Given the description of an element on the screen output the (x, y) to click on. 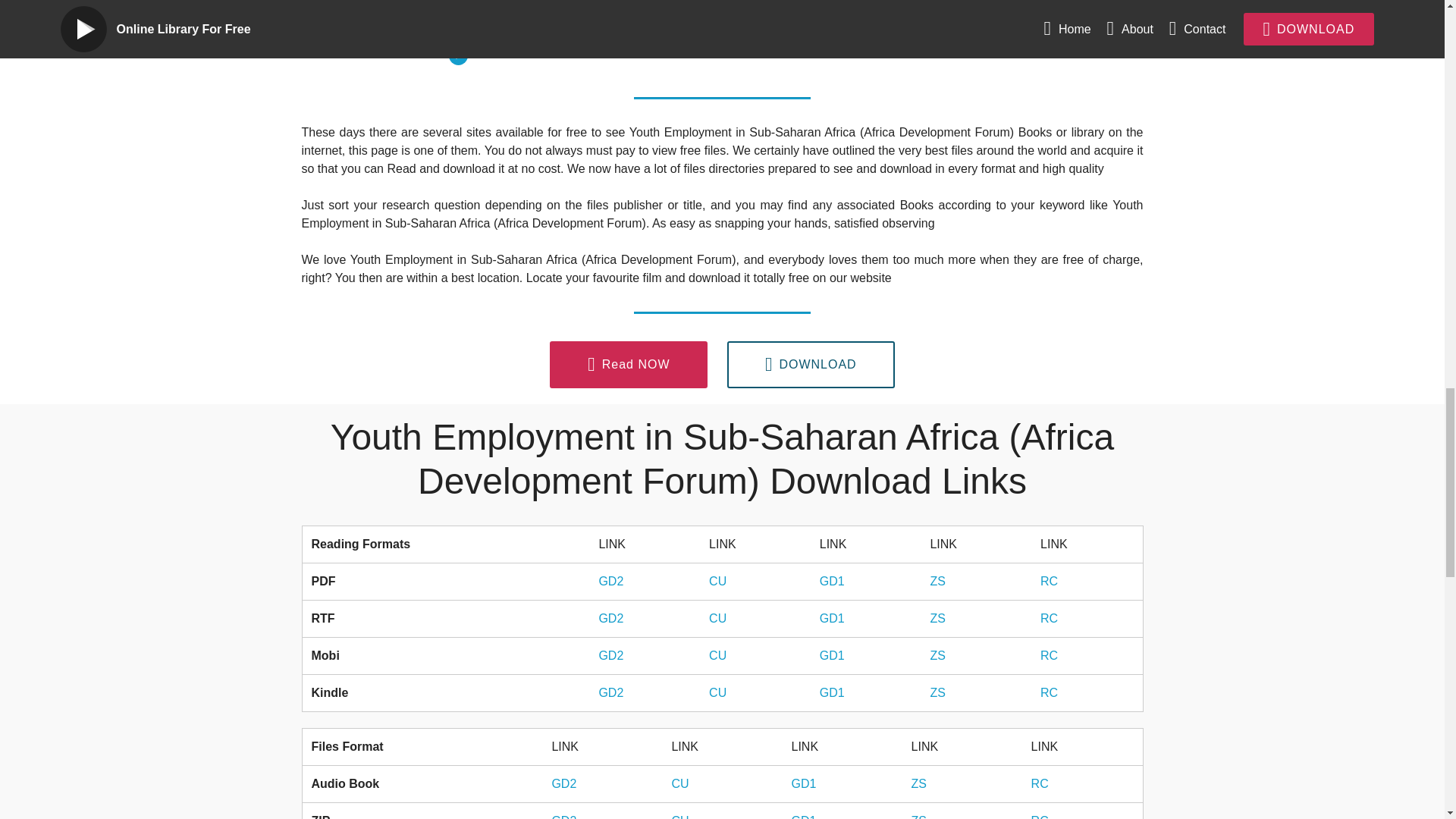
GD2 (610, 581)
GD1 (802, 783)
ZS (937, 692)
GD2 (563, 783)
CU (717, 692)
GD1 (831, 581)
RC (1049, 692)
RC (1049, 581)
RC (1039, 783)
GD1 (831, 692)
